Given the description of an element on the screen output the (x, y) to click on. 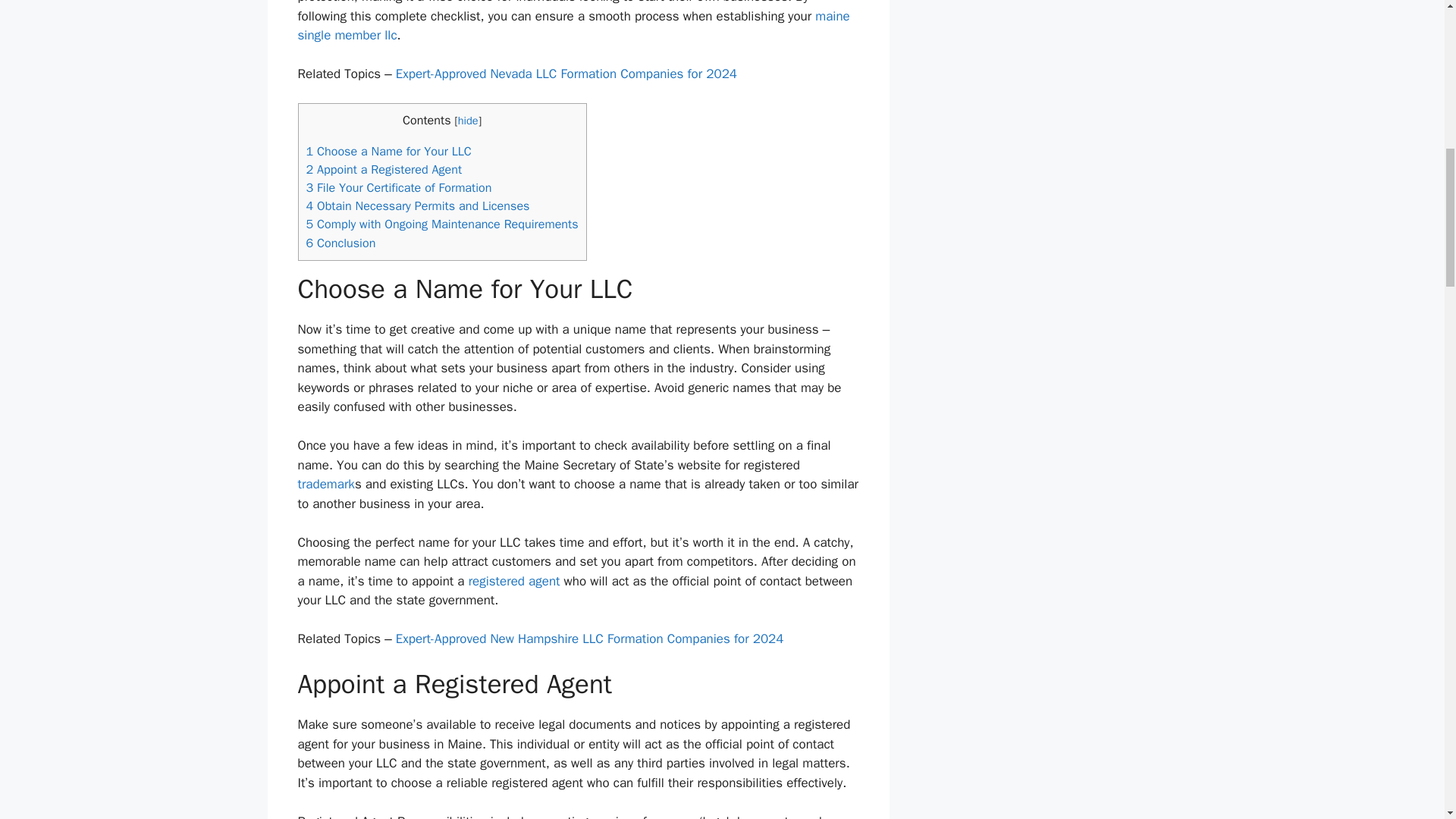
5 Comply with Ongoing Maintenance Requirements (441, 223)
3 File Your Certificate of Formation (398, 187)
2 Appoint a Registered Agent (384, 169)
trademark (325, 483)
maine single member llc (572, 26)
4 Obtain Necessary Permits and Licenses (417, 205)
registered agent (514, 580)
1 Choose a Name for Your LLC (388, 150)
